Given the description of an element on the screen output the (x, y) to click on. 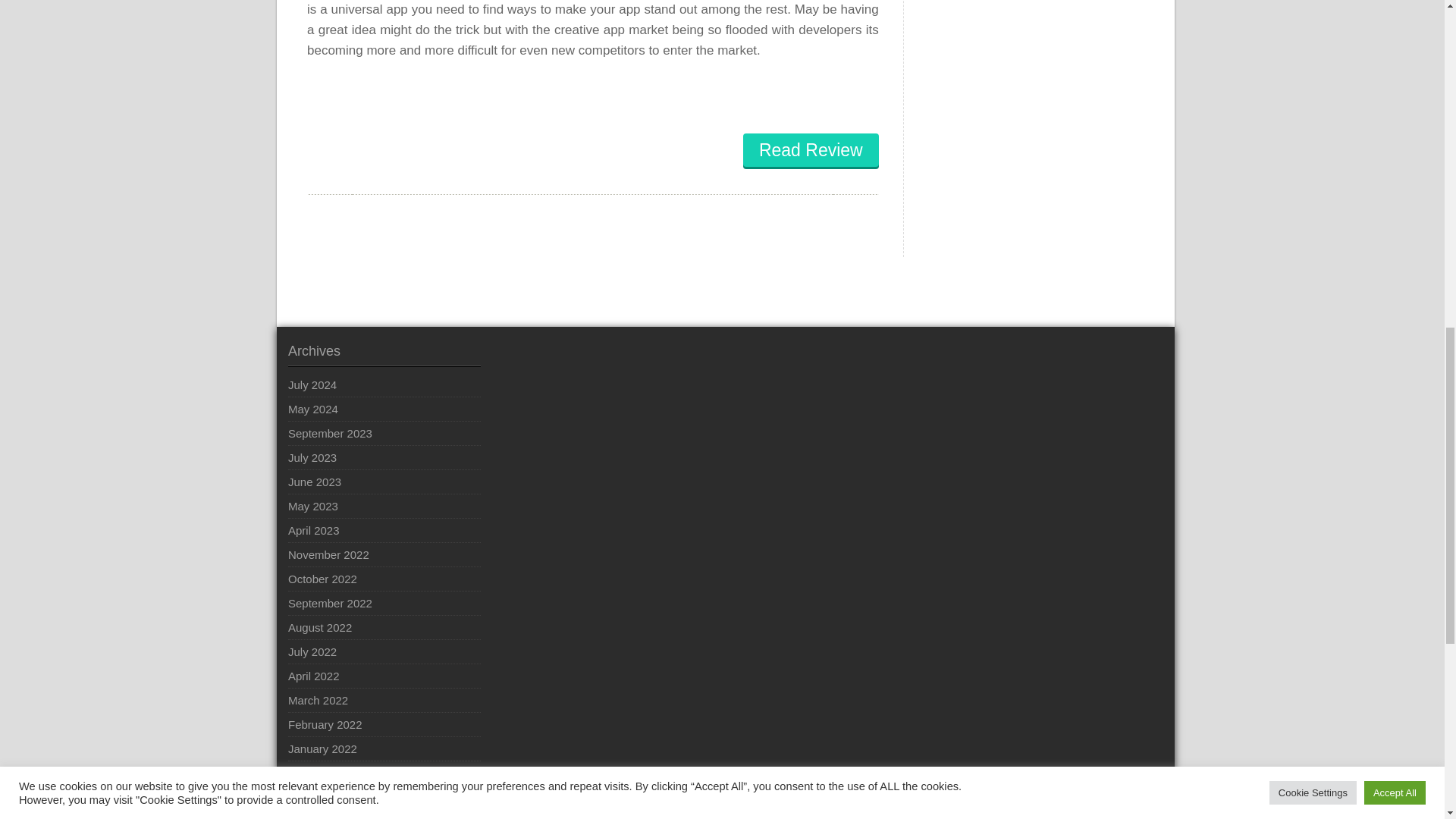
April 2022 (313, 675)
Read Review (810, 150)
March 2022 (317, 700)
August 2022 (320, 627)
July 2023 (312, 457)
January 2022 (322, 748)
July 2022 (312, 651)
April 2023 (313, 530)
July 2018 (312, 797)
May 2024 (312, 408)
November 2022 (328, 554)
October 2022 (322, 578)
September 2022 (330, 602)
February 2022 (325, 724)
July 2024 (312, 384)
